Given the description of an element on the screen output the (x, y) to click on. 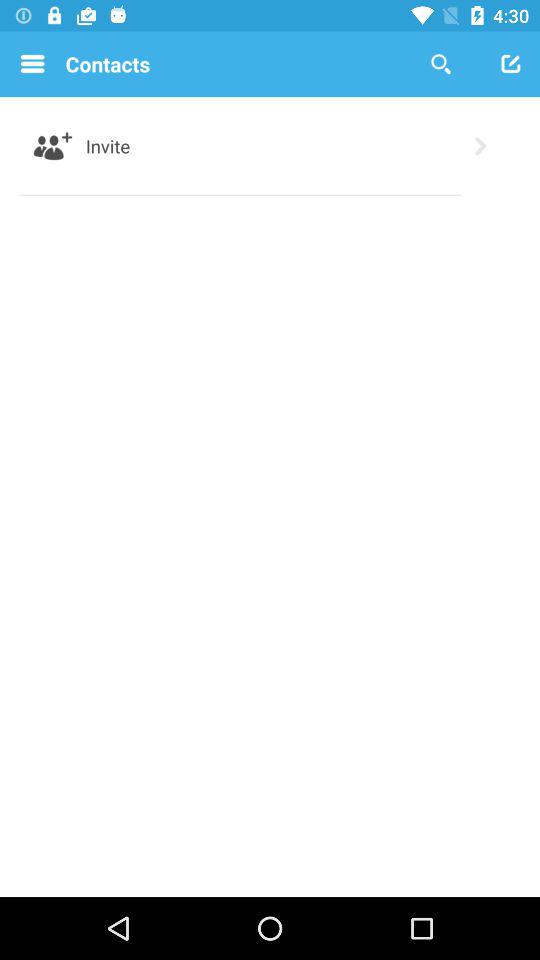
jump until invite icon (107, 145)
